Given the description of an element on the screen output the (x, y) to click on. 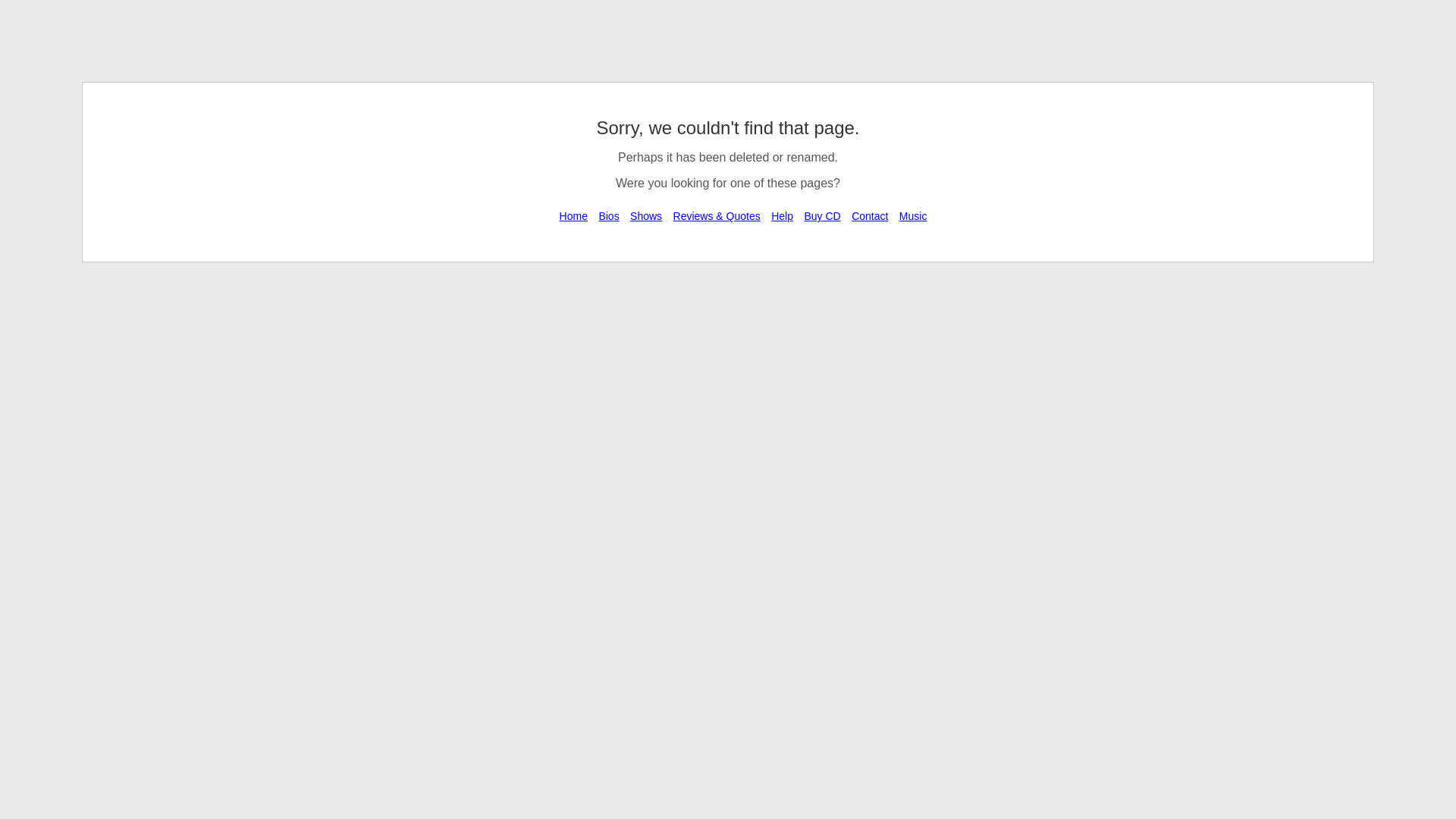
Help Element type: text (782, 216)
Shows Element type: text (645, 216)
Reviews & Quotes Element type: text (716, 216)
Buy CD Element type: text (822, 216)
Bios Element type: text (608, 216)
Music Element type: text (913, 216)
Contact Element type: text (869, 216)
Home Element type: text (573, 216)
